Given the description of an element on the screen output the (x, y) to click on. 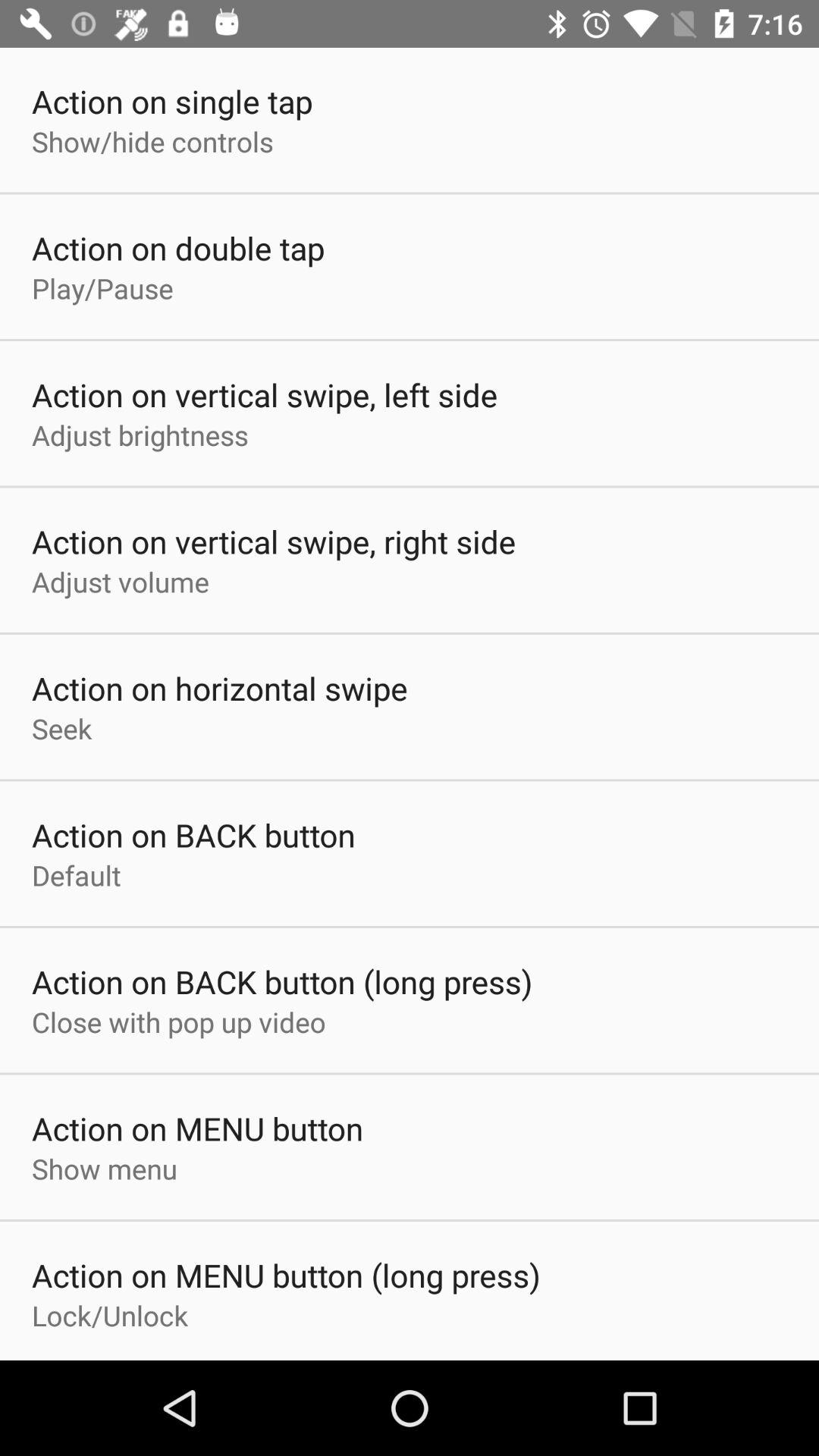
launch seek app (61, 728)
